Given the description of an element on the screen output the (x, y) to click on. 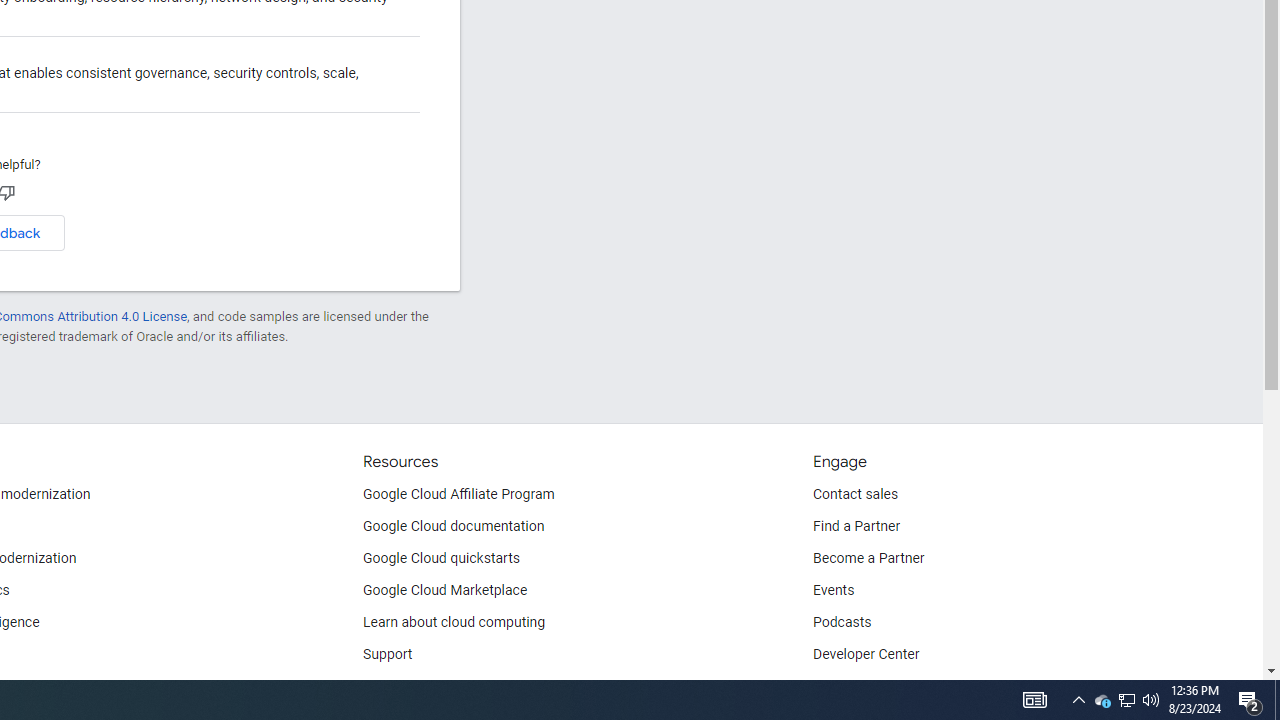
Google Cloud documentation (454, 526)
Developer Center (866, 655)
Google Cloud quickstarts (441, 558)
Code samples (407, 686)
Learn about cloud computing (454, 622)
Podcasts (841, 622)
Contact sales (855, 494)
Events (833, 590)
Google Cloud Affiliate Program (459, 494)
Support (388, 655)
Google Cloud Marketplace (445, 590)
Find a Partner (856, 526)
Press Corner (852, 686)
Become a Partner (868, 558)
